Given the description of an element on the screen output the (x, y) to click on. 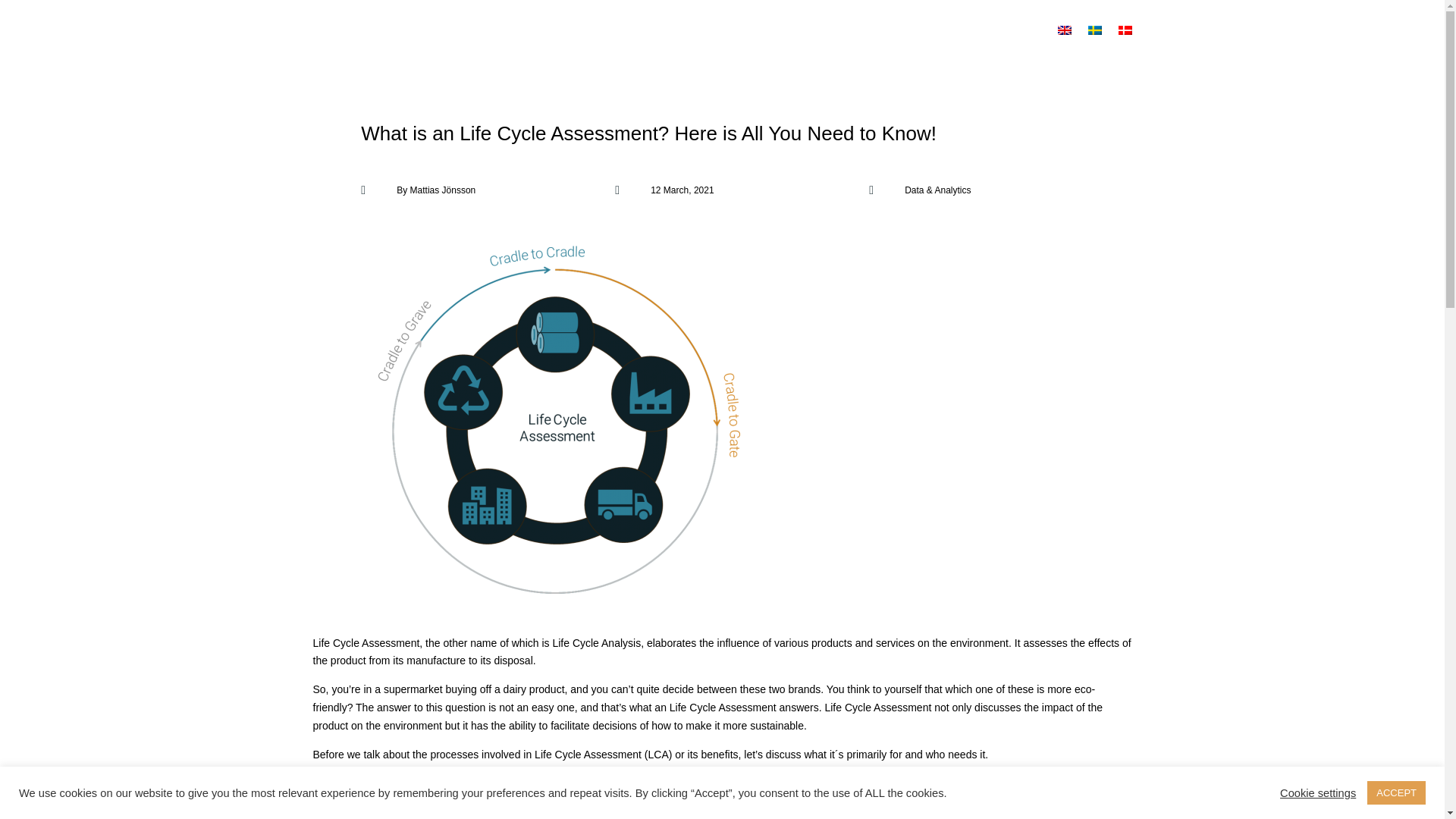
Bild2 (550, 419)
About us (741, 43)
Contact Us (999, 43)
Services (562, 43)
Partners (652, 43)
